Given the description of an element on the screen output the (x, y) to click on. 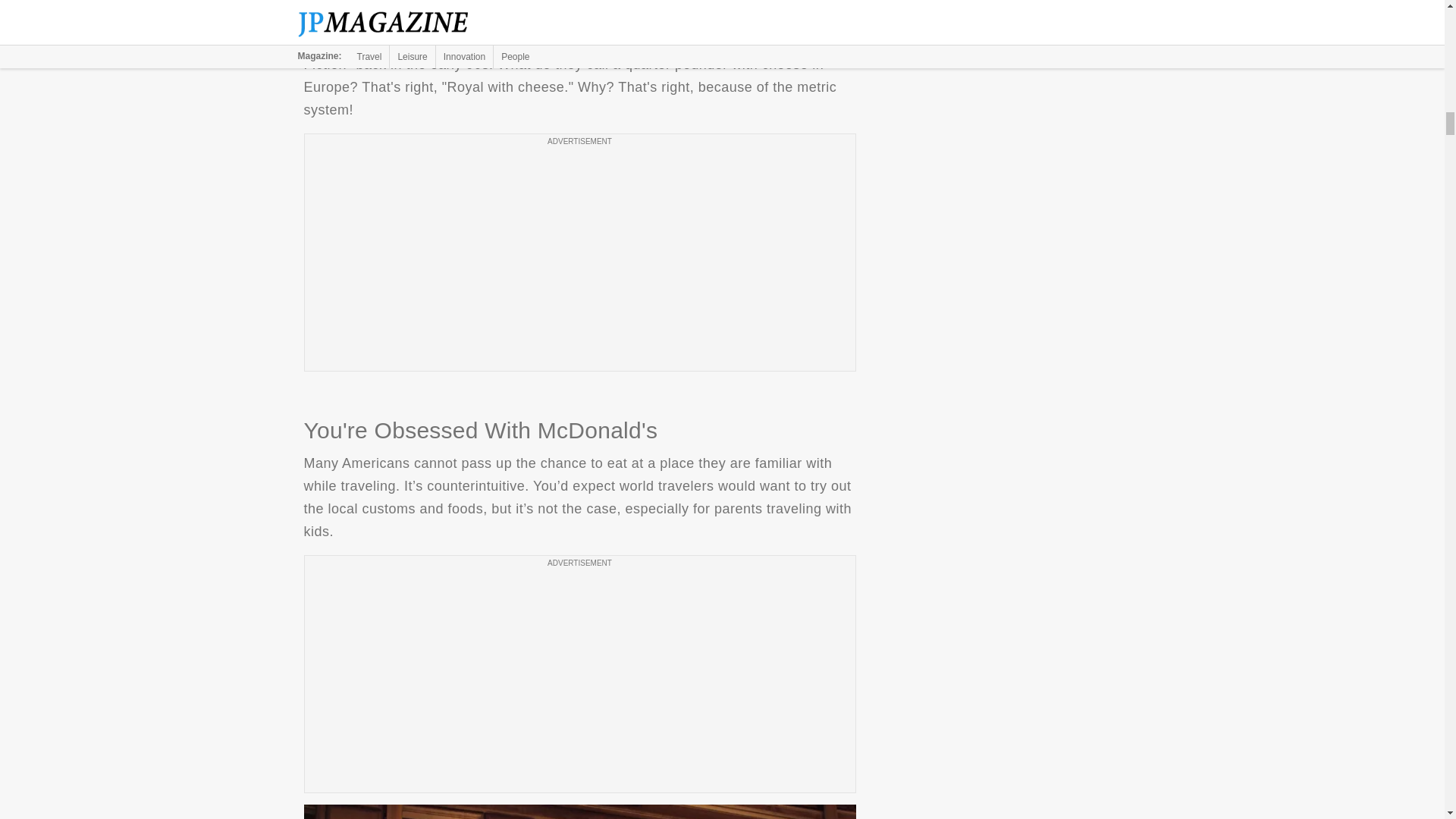
You're Obsessed With McDonald's (579, 811)
